Given the description of an element on the screen output the (x, y) to click on. 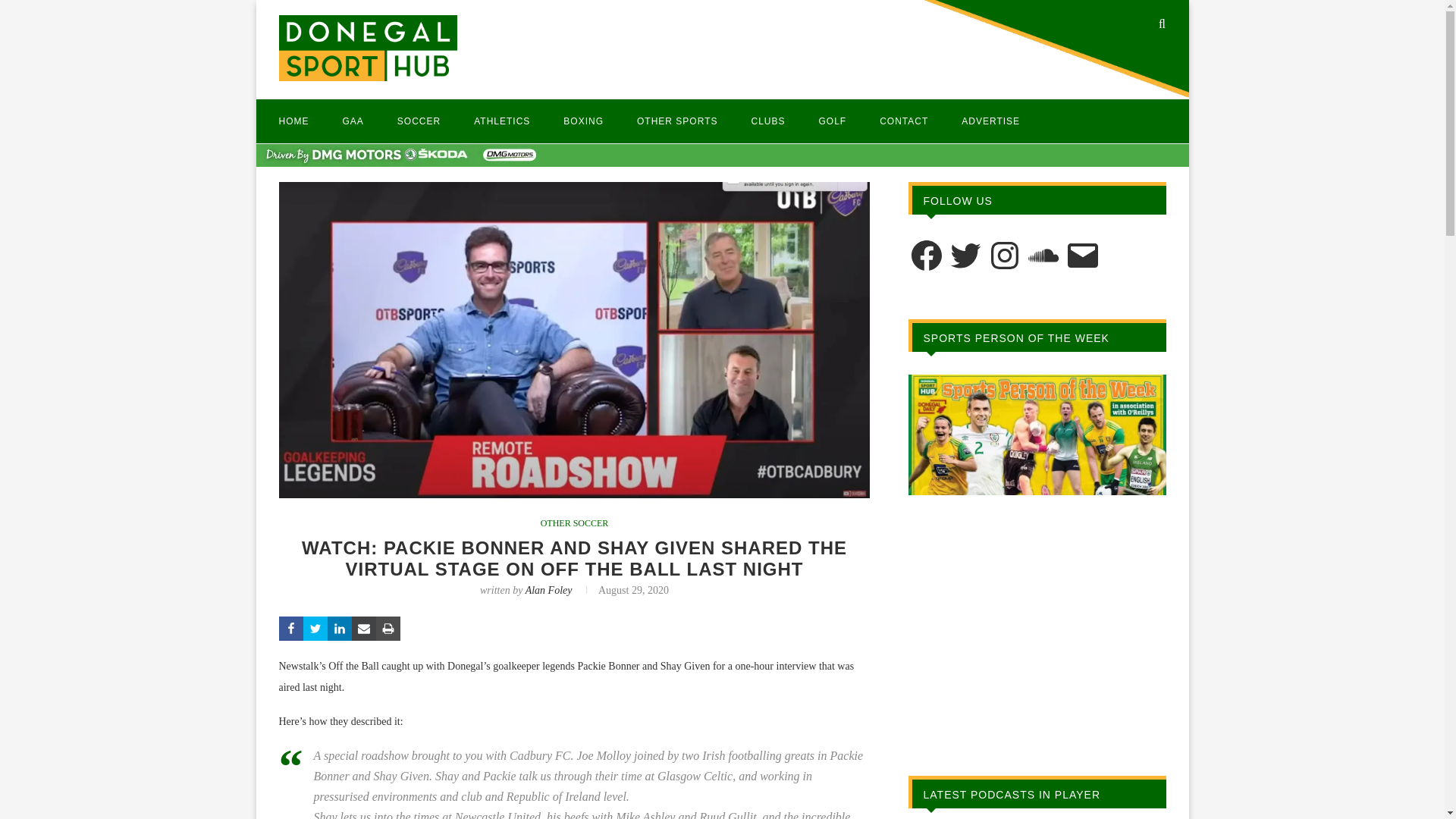
ADVERTISE (990, 121)
ATHLETICS (501, 121)
Share via Email (363, 628)
Share on Twitter (314, 628)
Alan Foley (548, 590)
Print this Page (387, 628)
View all posts in Other Soccer (574, 522)
CONTACT (903, 121)
Share on Facebook (290, 628)
SOCCER (419, 121)
Share on LinkedIn (339, 628)
OTHER SOCCER (574, 522)
OTHER SPORTS (677, 121)
BOXING (583, 121)
